Given the description of an element on the screen output the (x, y) to click on. 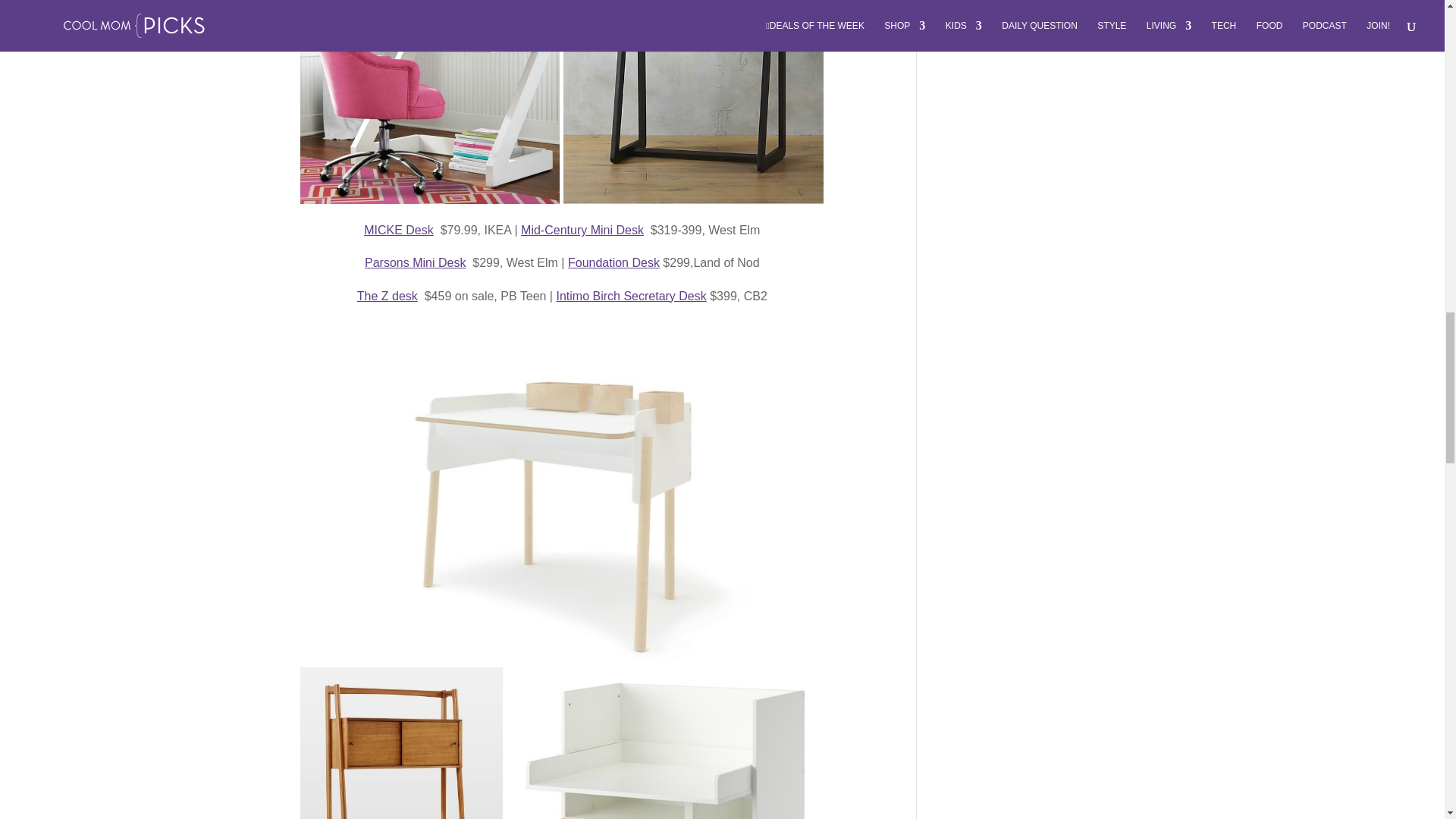
Cool modern kids' desks for small spaces (562, 104)
MICKE Desk at IKEA (398, 229)
